Given the description of an element on the screen output the (x, y) to click on. 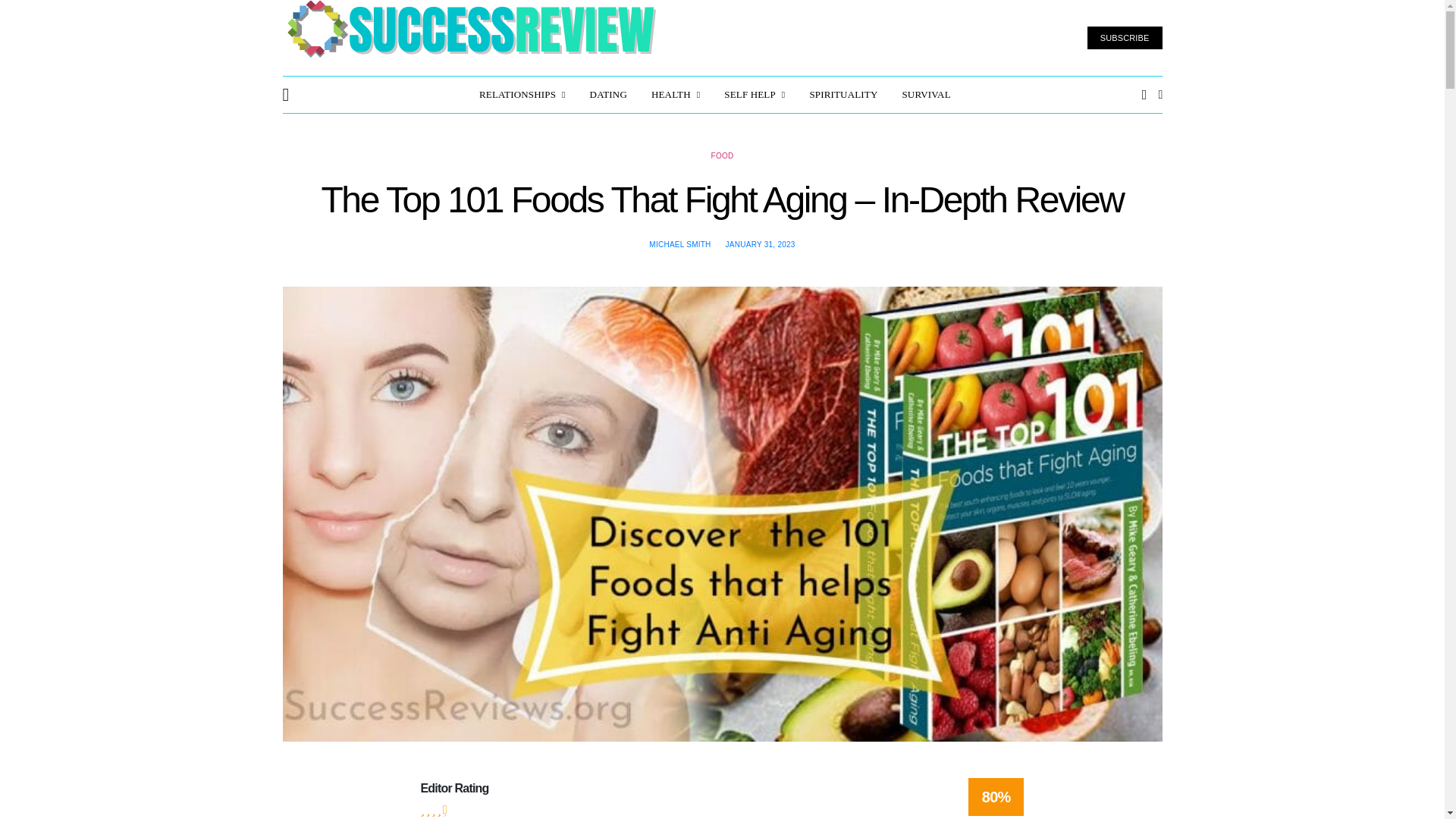
RELATIONSHIPS (522, 94)
Rated 4.5 (434, 809)
SELF HELP (753, 94)
SUBSCRIBE (1124, 37)
View all posts by Michael Smith (679, 244)
JANUARY 31, 2023 (759, 244)
HEALTH (675, 94)
SPIRITUALITY (843, 94)
SURVIVAL (925, 94)
DATING (608, 94)
FOOD (722, 155)
MICHAEL SMITH (679, 244)
